Given the description of an element on the screen output the (x, y) to click on. 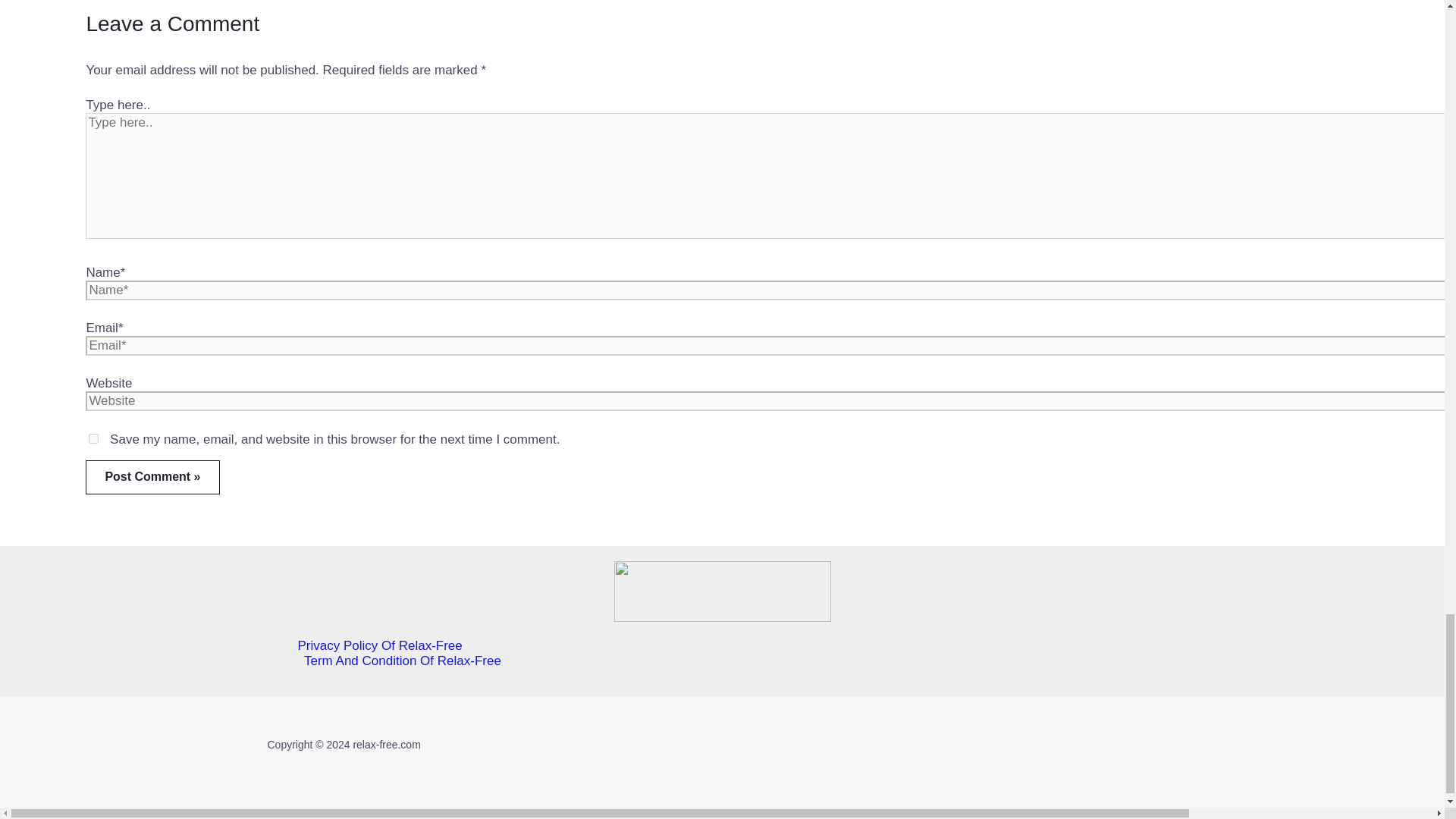
Term And Condition Of Relax-Free (736, 661)
Privacy Policy Of Relax-Free (736, 645)
yes (93, 438)
